Given the description of an element on the screen output the (x, y) to click on. 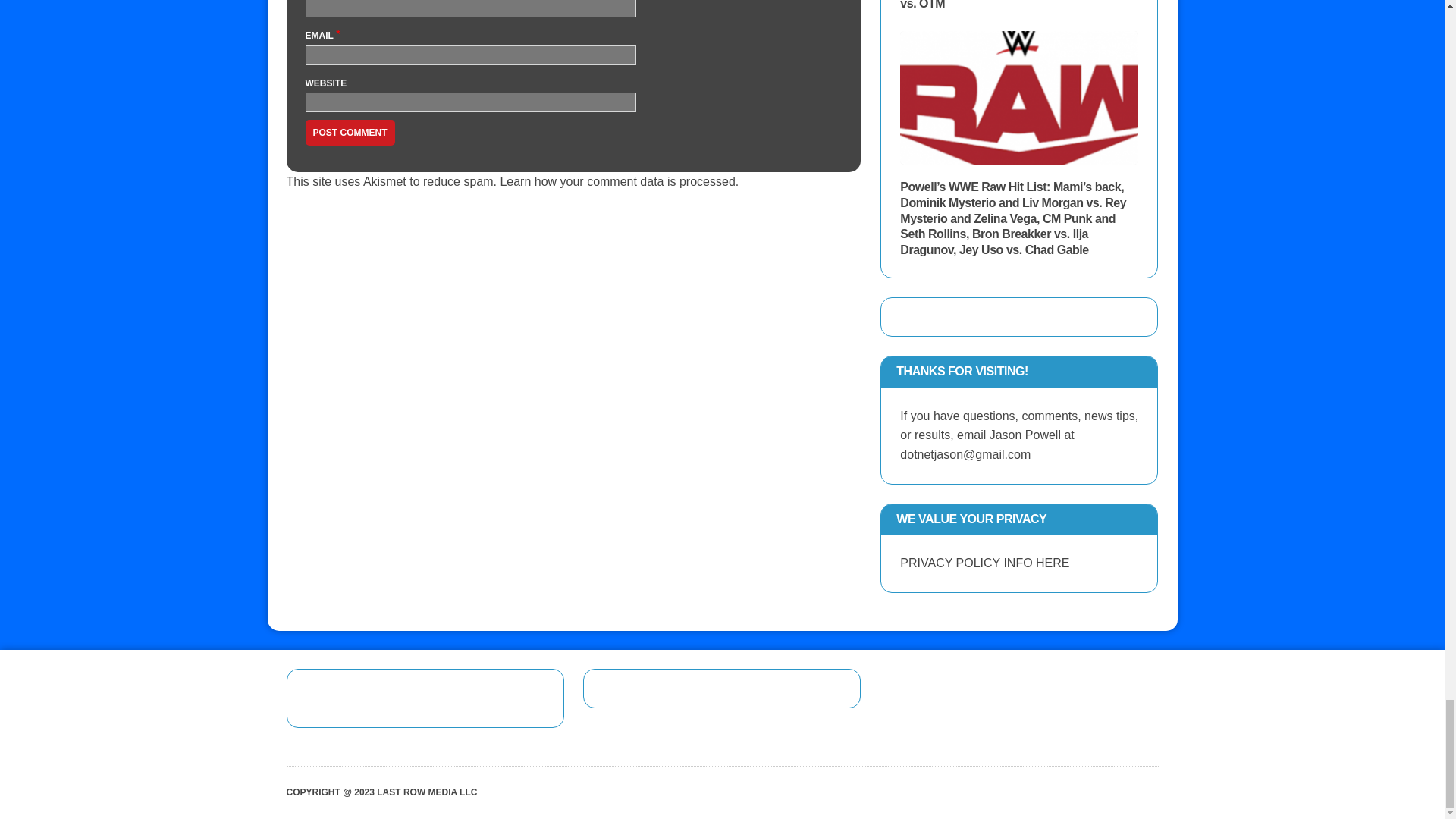
Post Comment (349, 132)
